Given the description of an element on the screen output the (x, y) to click on. 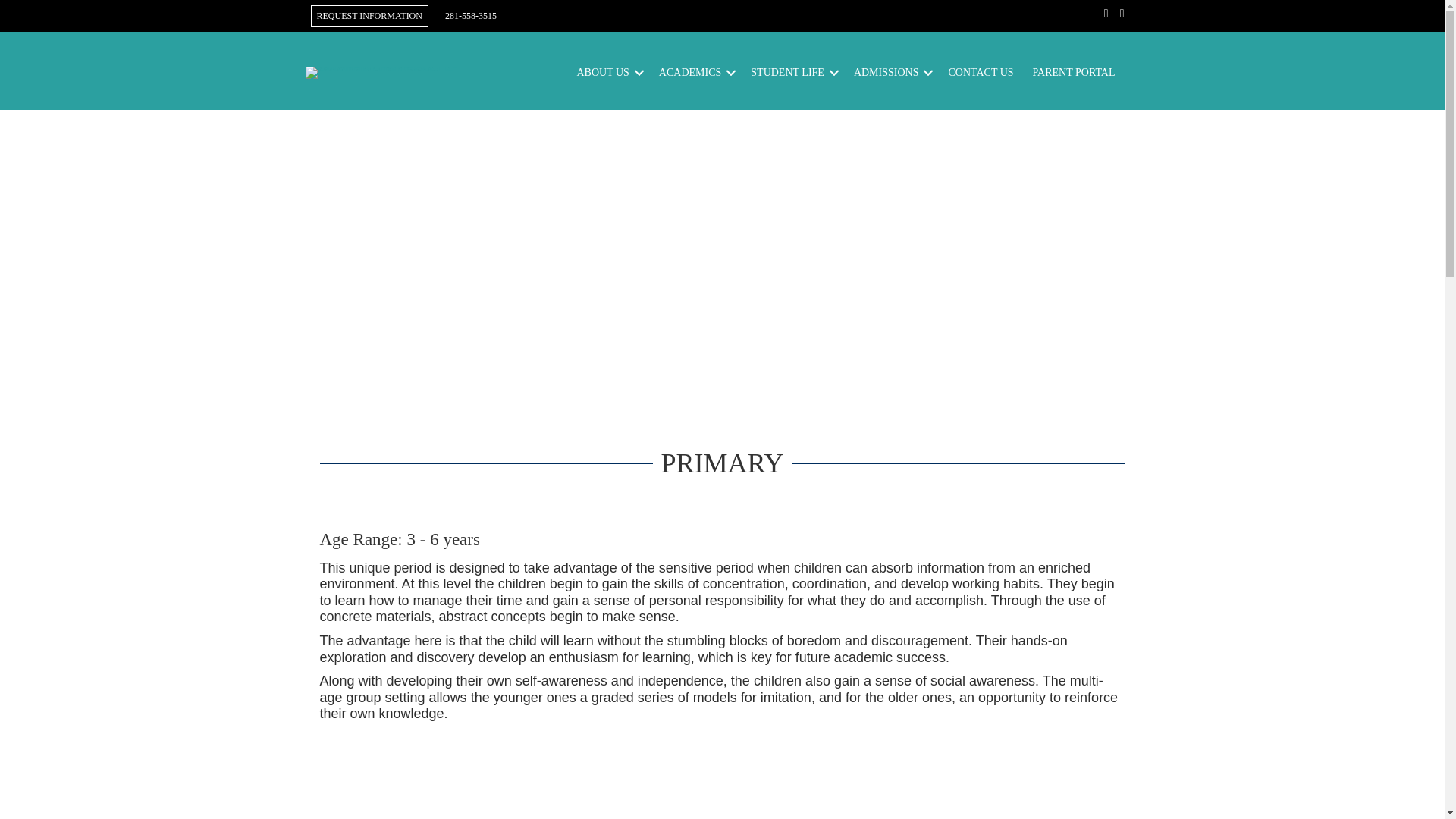
281-558-3515 (470, 15)
CONTACT US (980, 72)
SS-Primary (722, 789)
PARENT PORTAL (1073, 72)
ABOUT US (607, 72)
SmallerScholars-Horiz-2007-PMS-wh-450 (387, 72)
ADMISSIONS (891, 72)
ACADEMICS (695, 72)
REQUEST INFORMATION (369, 15)
STUDENT LIFE (792, 72)
